Given the description of an element on the screen output the (x, y) to click on. 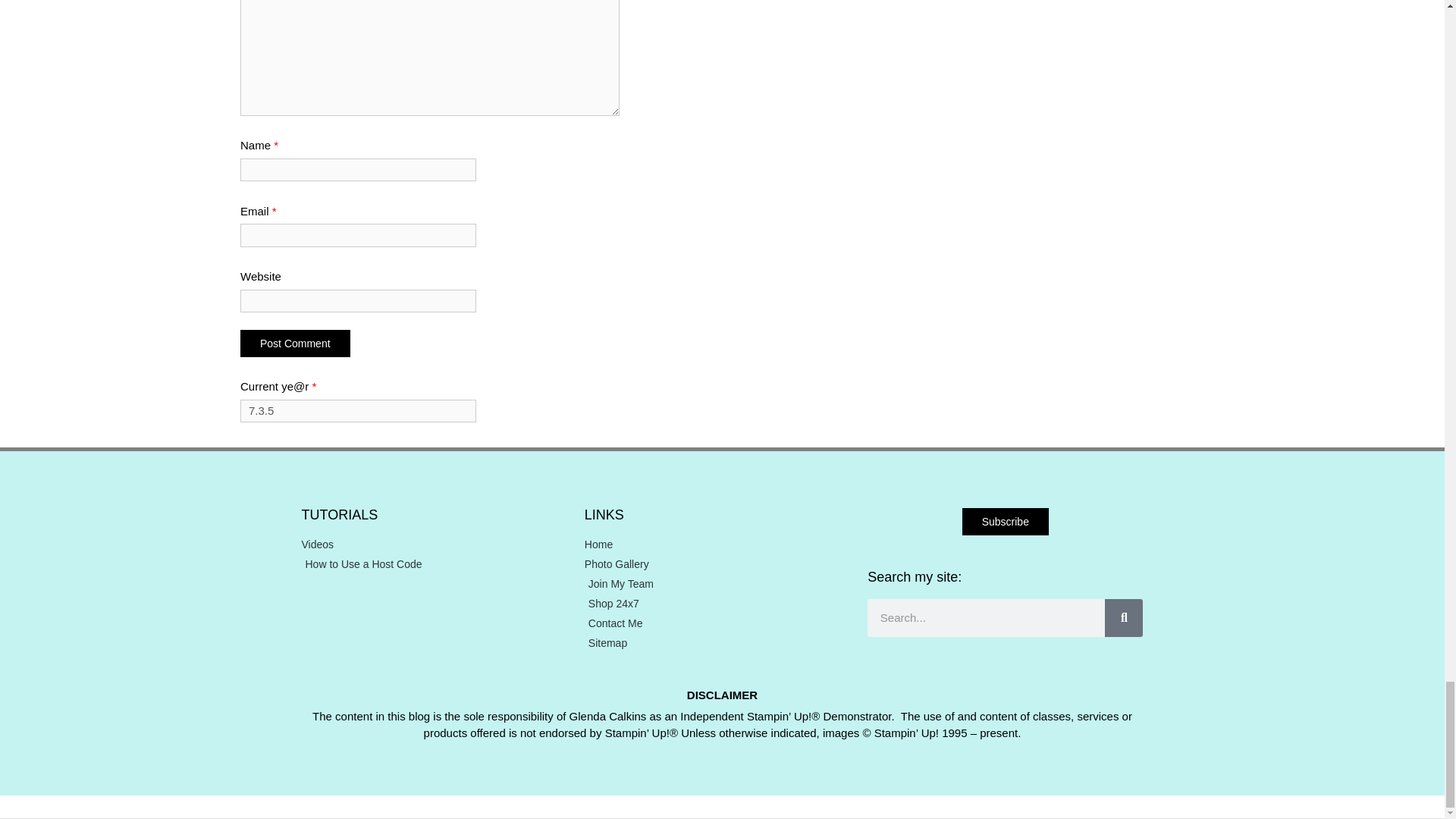
7.3.5 (358, 411)
Post Comment (295, 343)
